Given the description of an element on the screen output the (x, y) to click on. 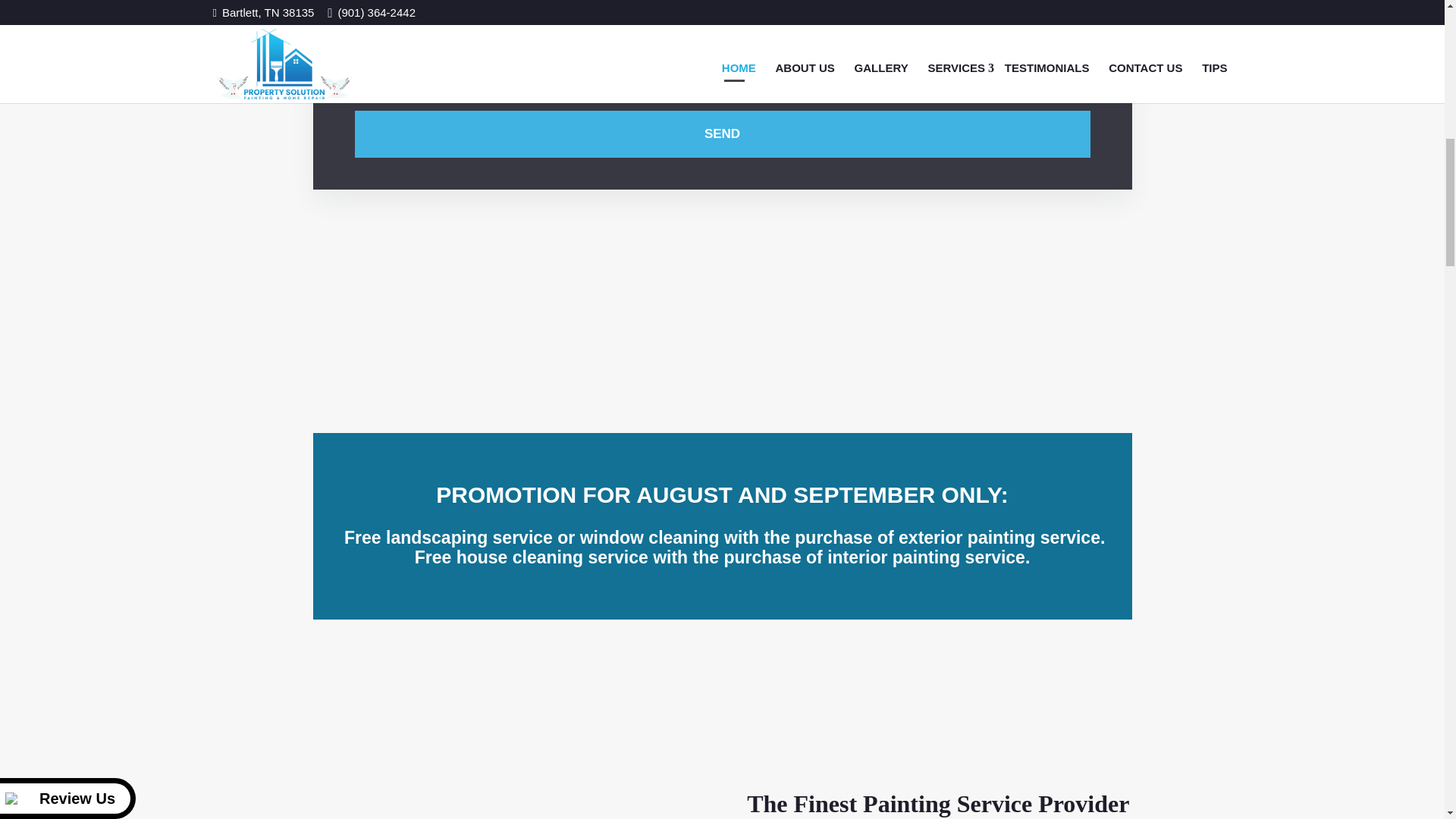
Code (905, 84)
Send (722, 134)
painter (506, 729)
Message (722, 25)
Send (722, 134)
